Given the description of an element on the screen output the (x, y) to click on. 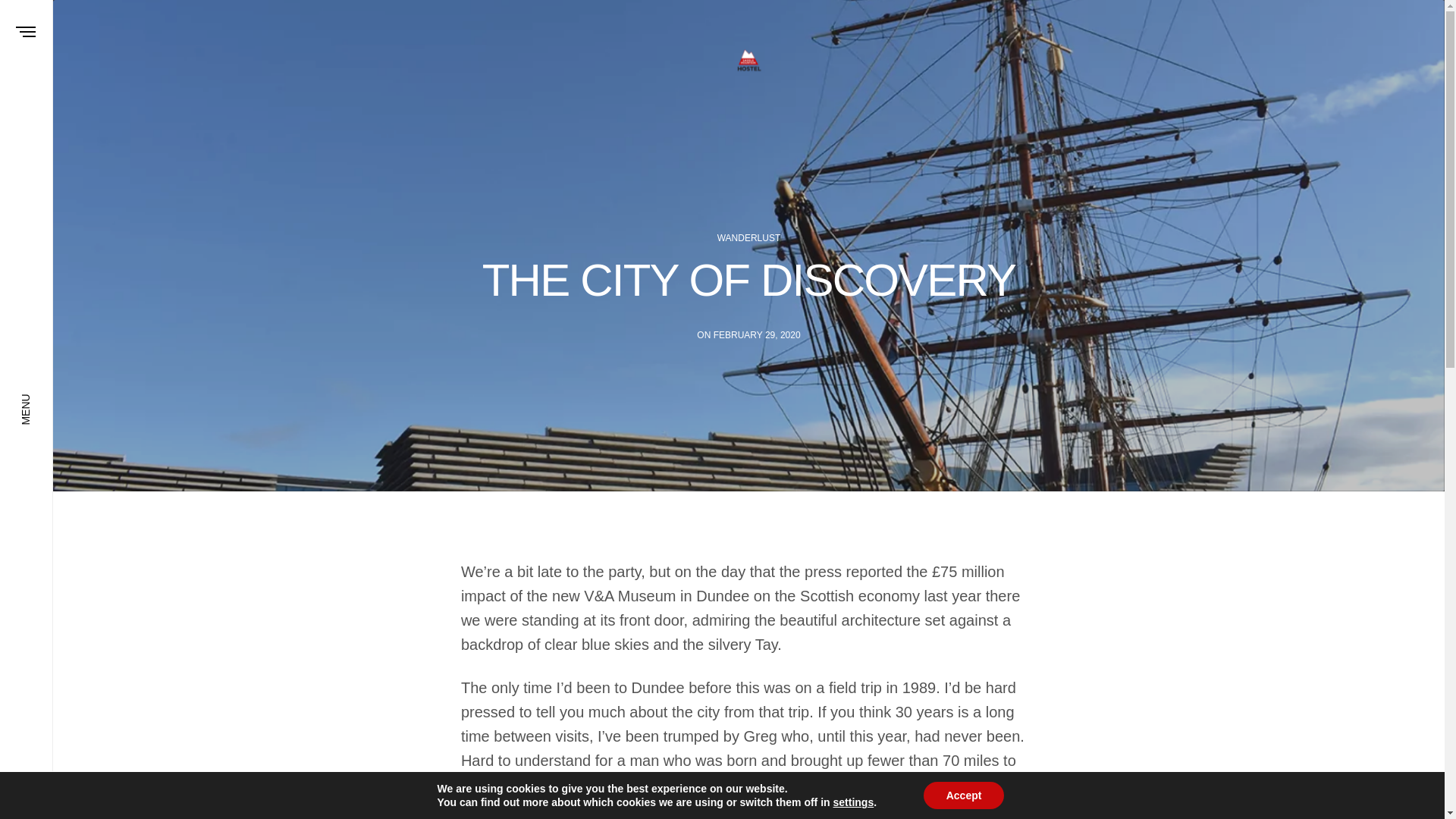
settings (853, 802)
Saddle Mountain Hostel, Invergarry (747, 60)
WANDERLUST (748, 237)
Accept (963, 795)
